Given the description of an element on the screen output the (x, y) to click on. 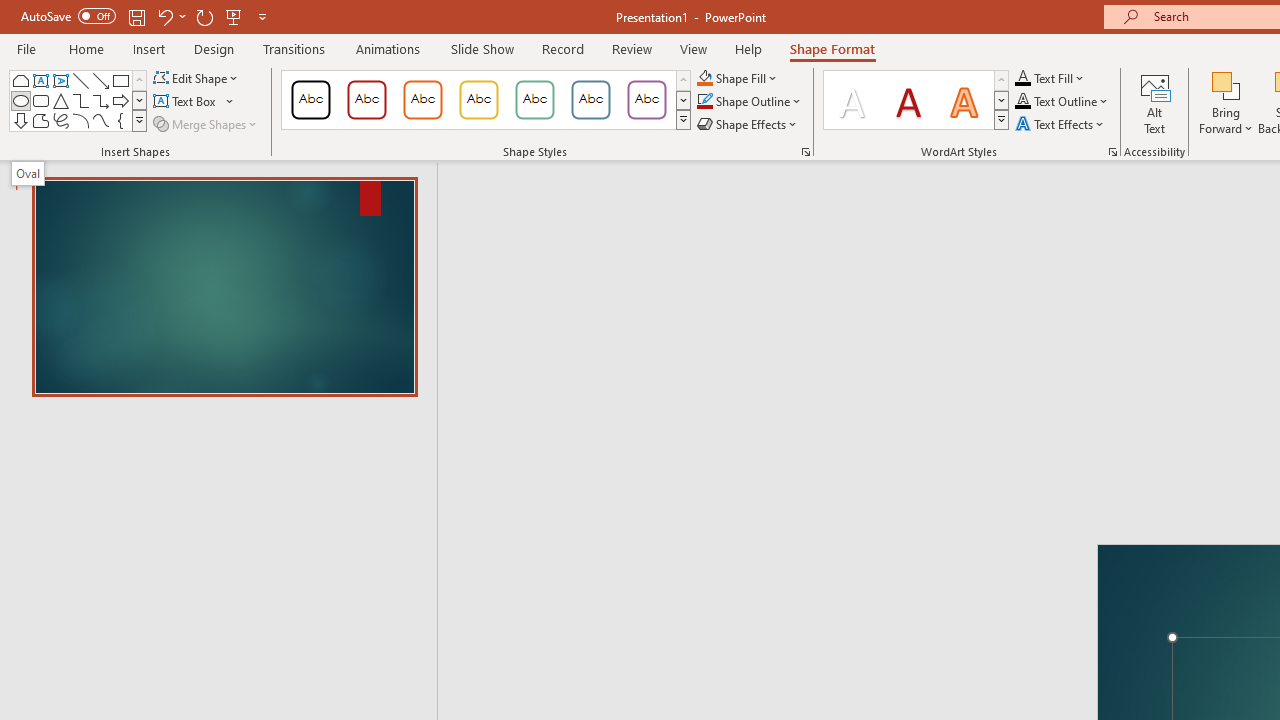
Shapes (139, 120)
AutomationID: ShapesInsertGallery (78, 100)
Freeform: Scribble (60, 120)
Rectangle (120, 80)
Colored Outline - Gold, Accent 3 (478, 100)
Row Down (1001, 100)
Shape Effects (748, 124)
Text Effects (1061, 124)
Shape Fill (737, 78)
